Given the description of an element on the screen output the (x, y) to click on. 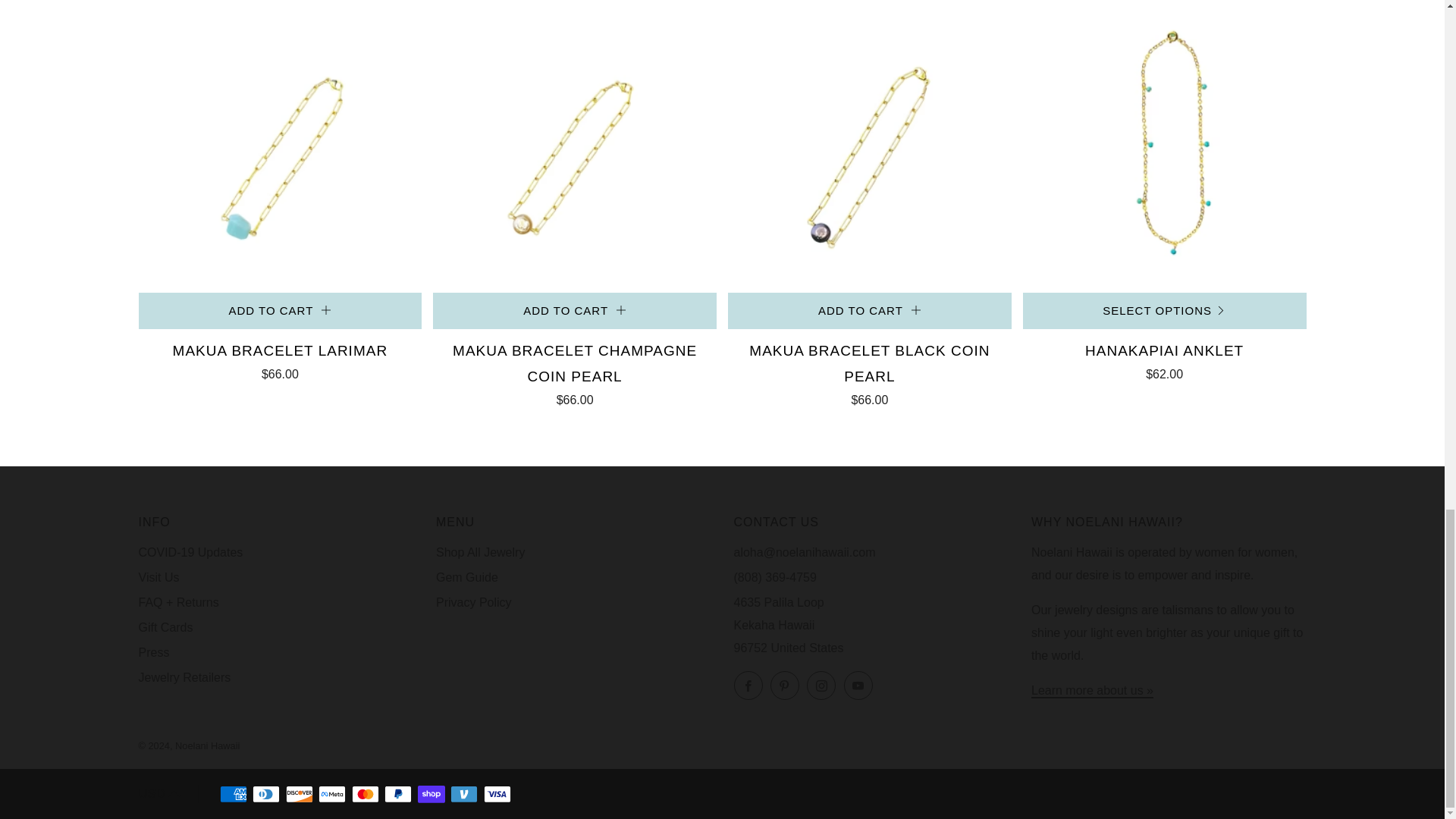
Makua Bracelet Larimar (280, 359)
Hanakapiai Anklet (1164, 359)
Makua Bracelet Black Coin Pearl (869, 372)
Makua Bracelet Champagne Coin Pearl (574, 372)
Makua Bracelet Larimar (280, 150)
Hanakapiai Anklet (1164, 150)
Makua Bracelet Black Coin Pearl (869, 150)
Makua Bracelet Champagne Coin Pearl (574, 150)
